Given the description of an element on the screen output the (x, y) to click on. 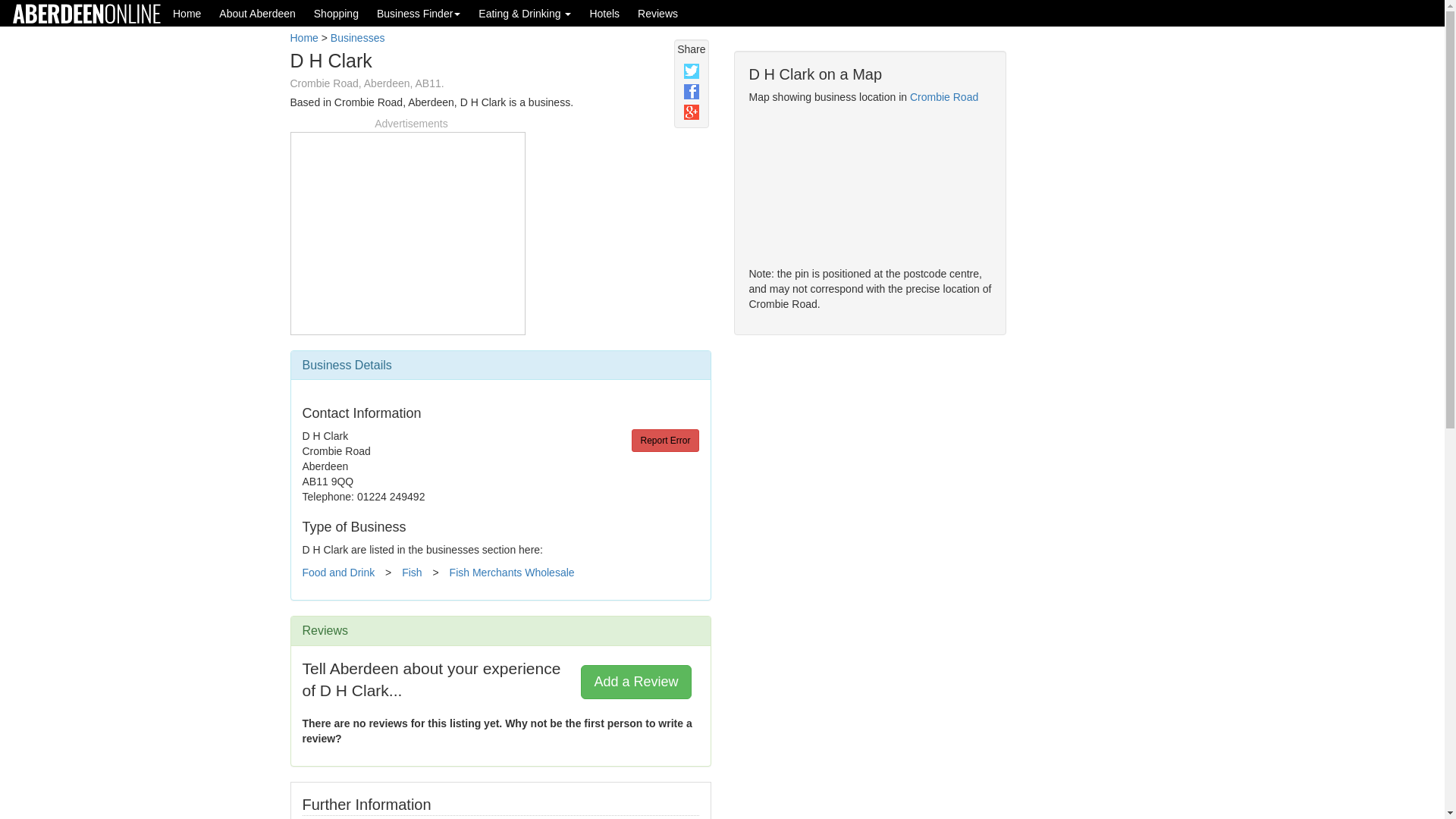
Businesses (357, 37)
Home (186, 12)
Food and Drink (337, 572)
Fish (411, 572)
Hotels (603, 12)
Crombie Road (944, 96)
Shopping (336, 12)
Reviews (657, 12)
Advertisement (407, 230)
Business Finder (418, 12)
About Aberdeen (256, 12)
Report Error (664, 440)
Add a Review (635, 681)
Home (303, 37)
Fish Merchants Wholesale (512, 572)
